Given the description of an element on the screen output the (x, y) to click on. 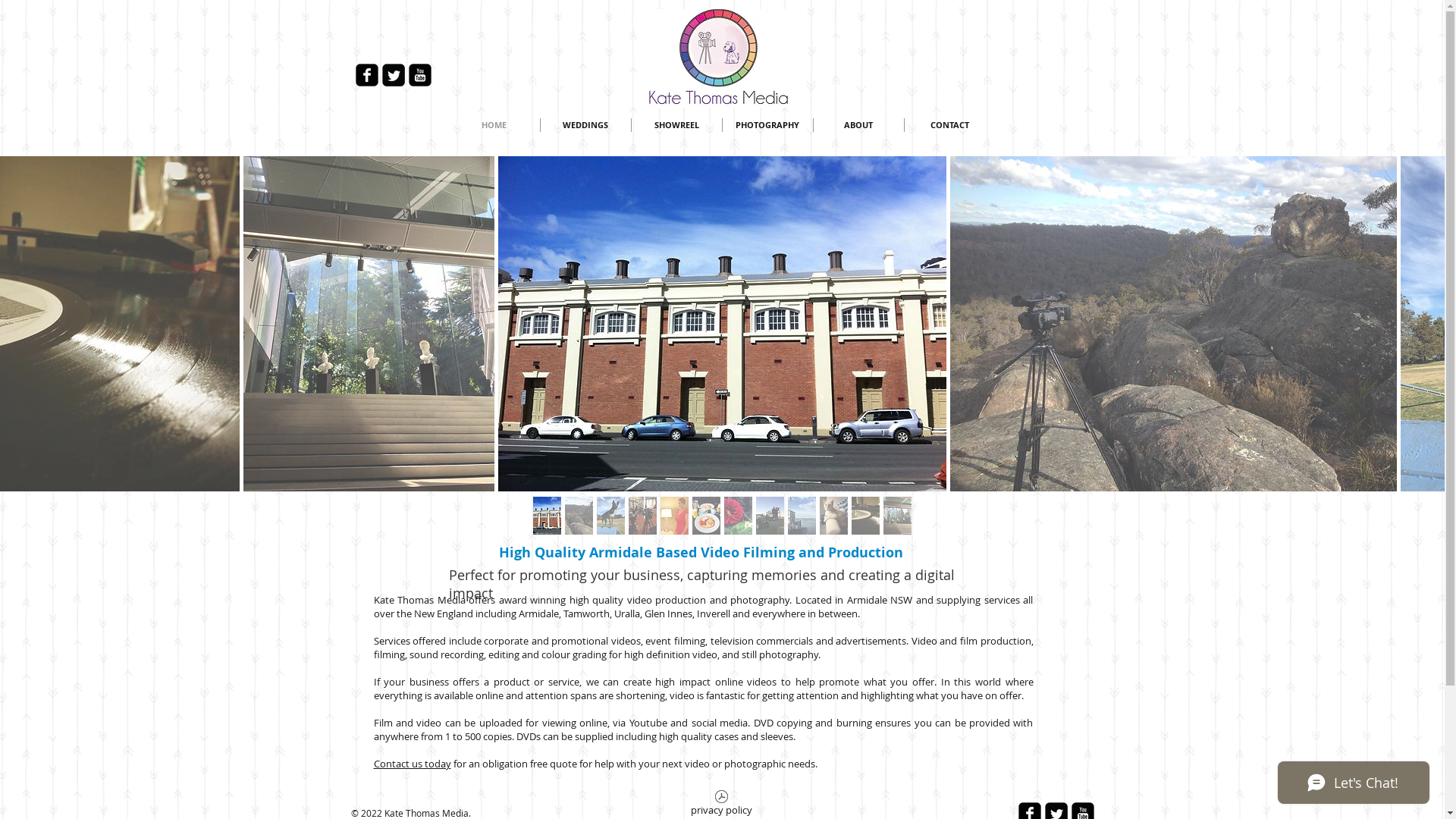
Kate Thomas Media Logo Element type: hover (717, 58)
SHOWREEL Element type: text (675, 124)
ABOUT Element type: text (857, 124)
WEDDINGS Element type: text (584, 124)
Embedded Content Element type: hover (723, 368)
Contact us today Element type: text (411, 763)
CONTACT Element type: text (948, 124)
HOME Element type: text (493, 124)
PHOTOGRAPHY Element type: text (766, 124)
